Given the description of an element on the screen output the (x, y) to click on. 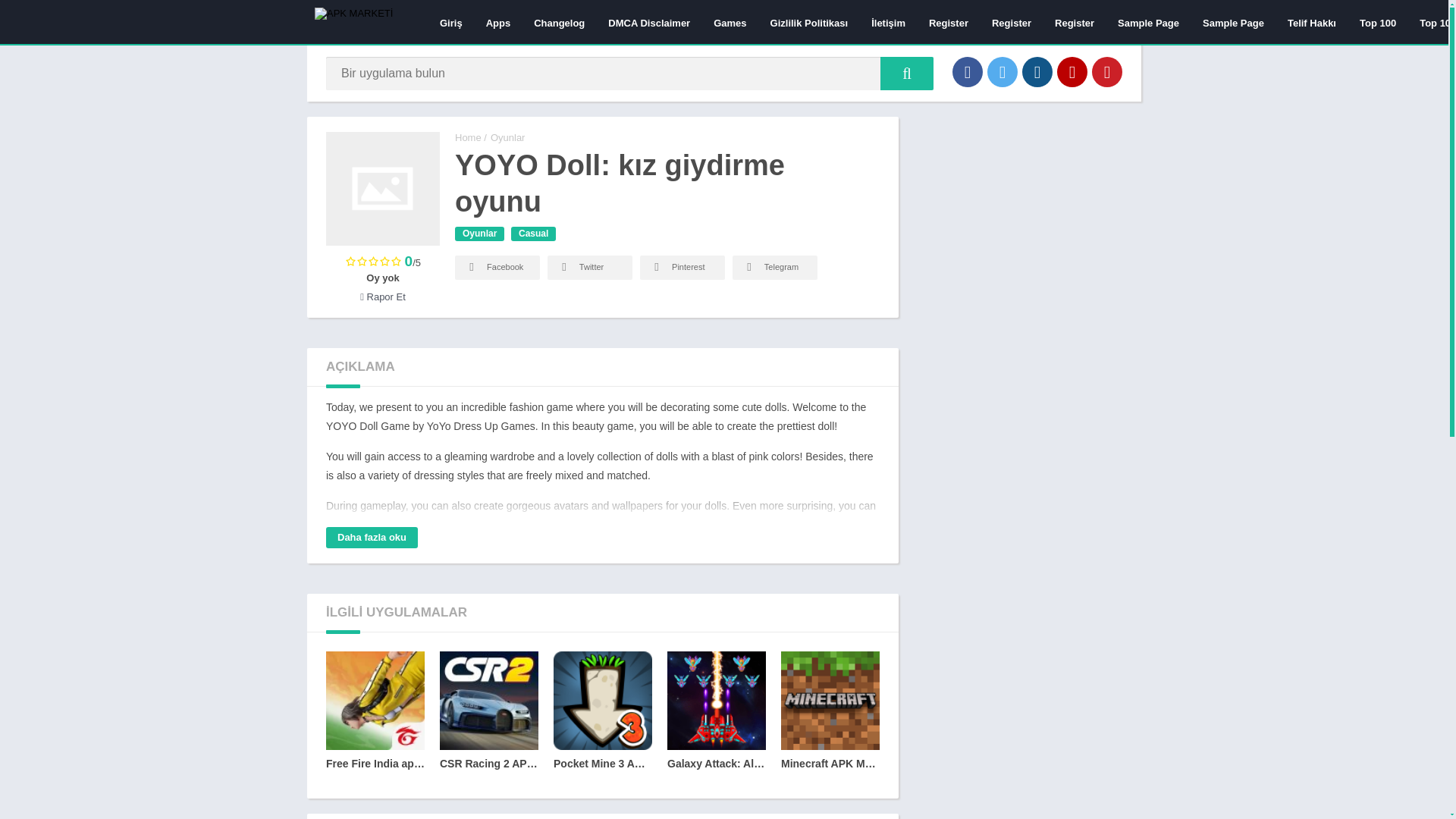
Register (948, 22)
Register (1010, 22)
Register (1074, 22)
Bir uygulama bulun (906, 73)
Games (729, 22)
Facebook (967, 71)
DMCA Disclaimer (648, 22)
Twitter (1002, 71)
Top 100 (1377, 22)
Instagram (1037, 71)
Apps (498, 22)
Pinterest (1107, 71)
Changelog (558, 22)
YouTube (1072, 71)
Sample Page (1233, 22)
